Given the description of an element on the screen output the (x, y) to click on. 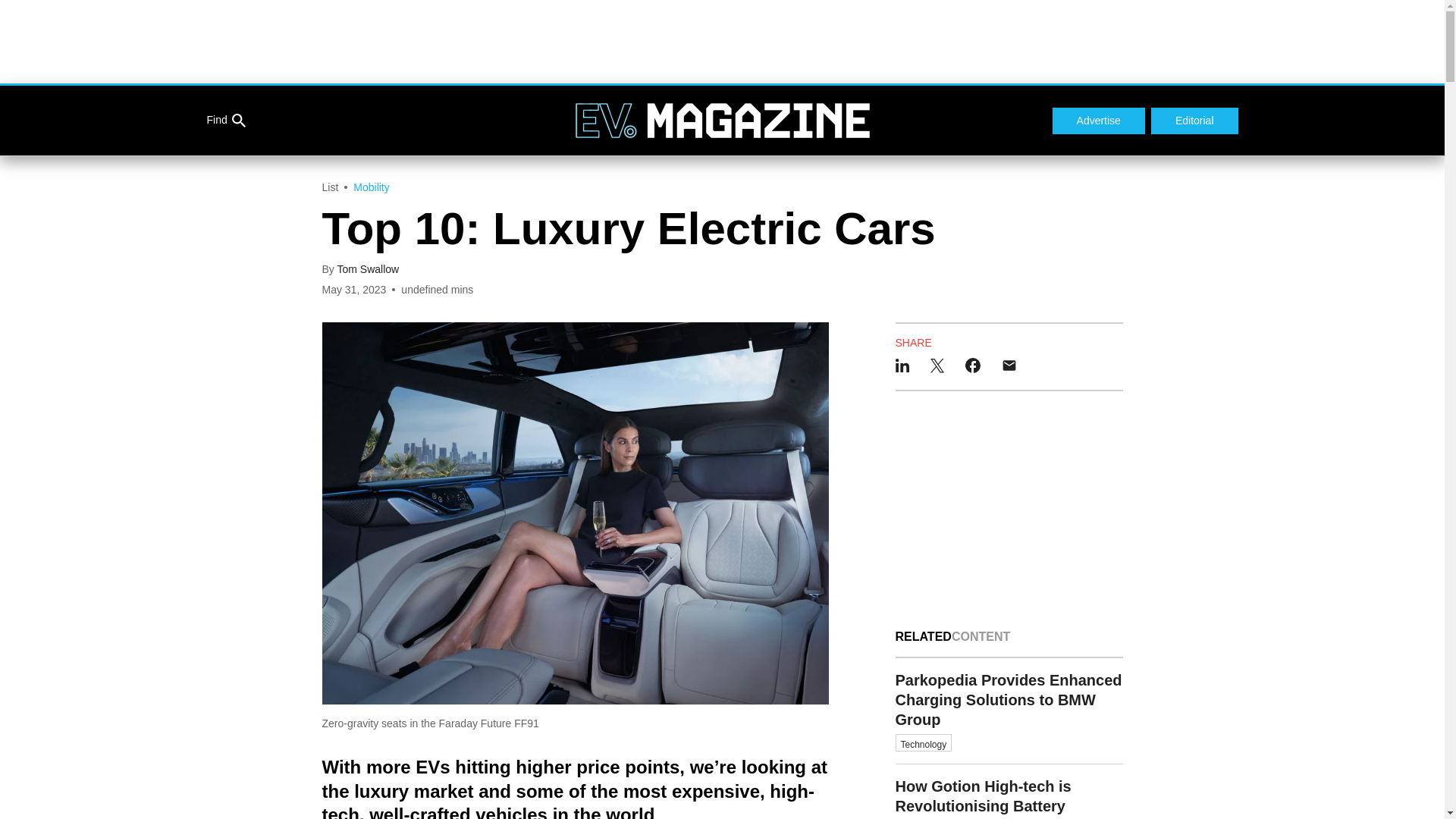
Advertise (1098, 121)
Find (225, 120)
Editorial (1195, 121)
Tom Swallow (367, 268)
